Given the description of an element on the screen output the (x, y) to click on. 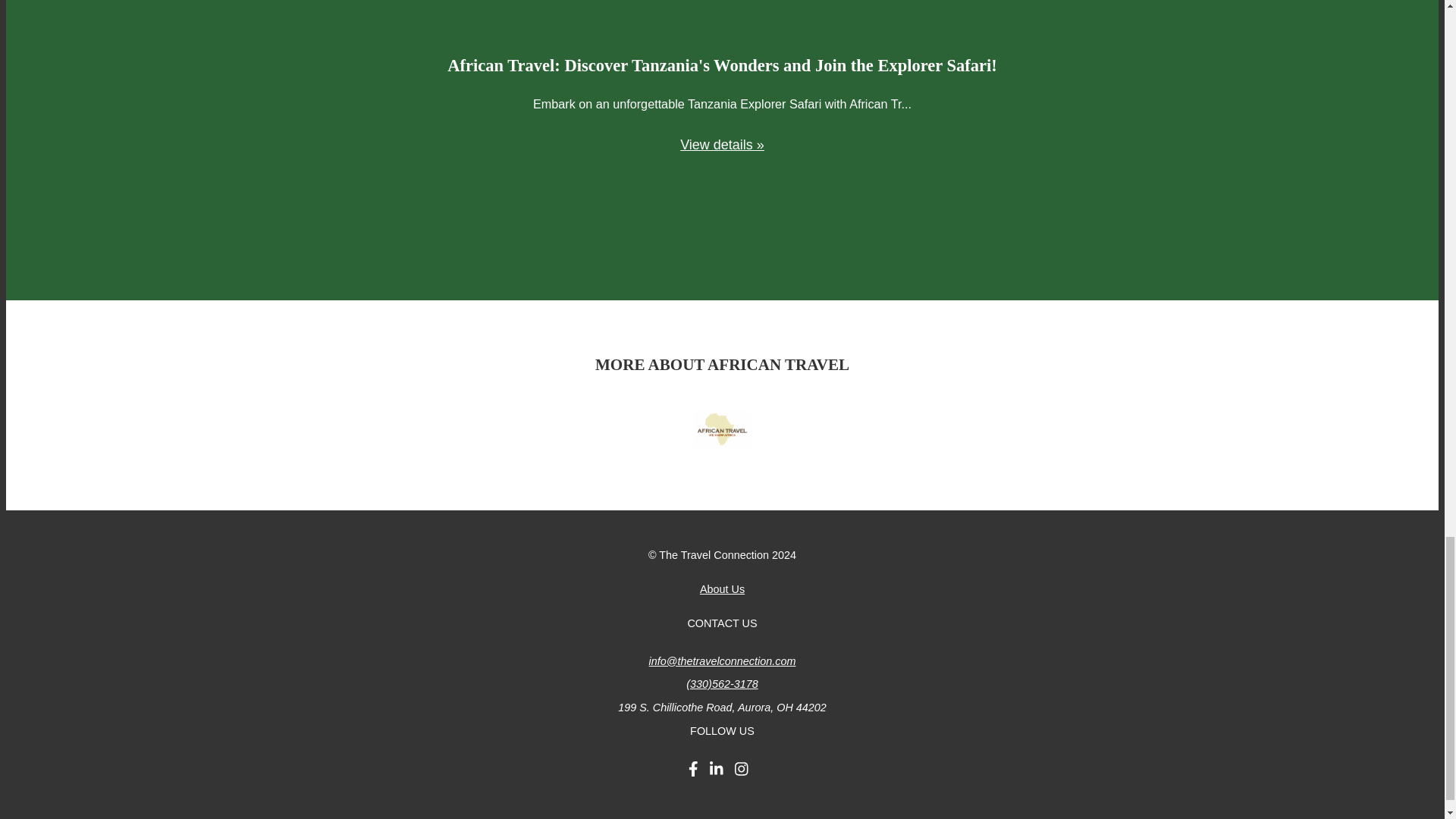
About Us (722, 589)
